Given the description of an element on the screen output the (x, y) to click on. 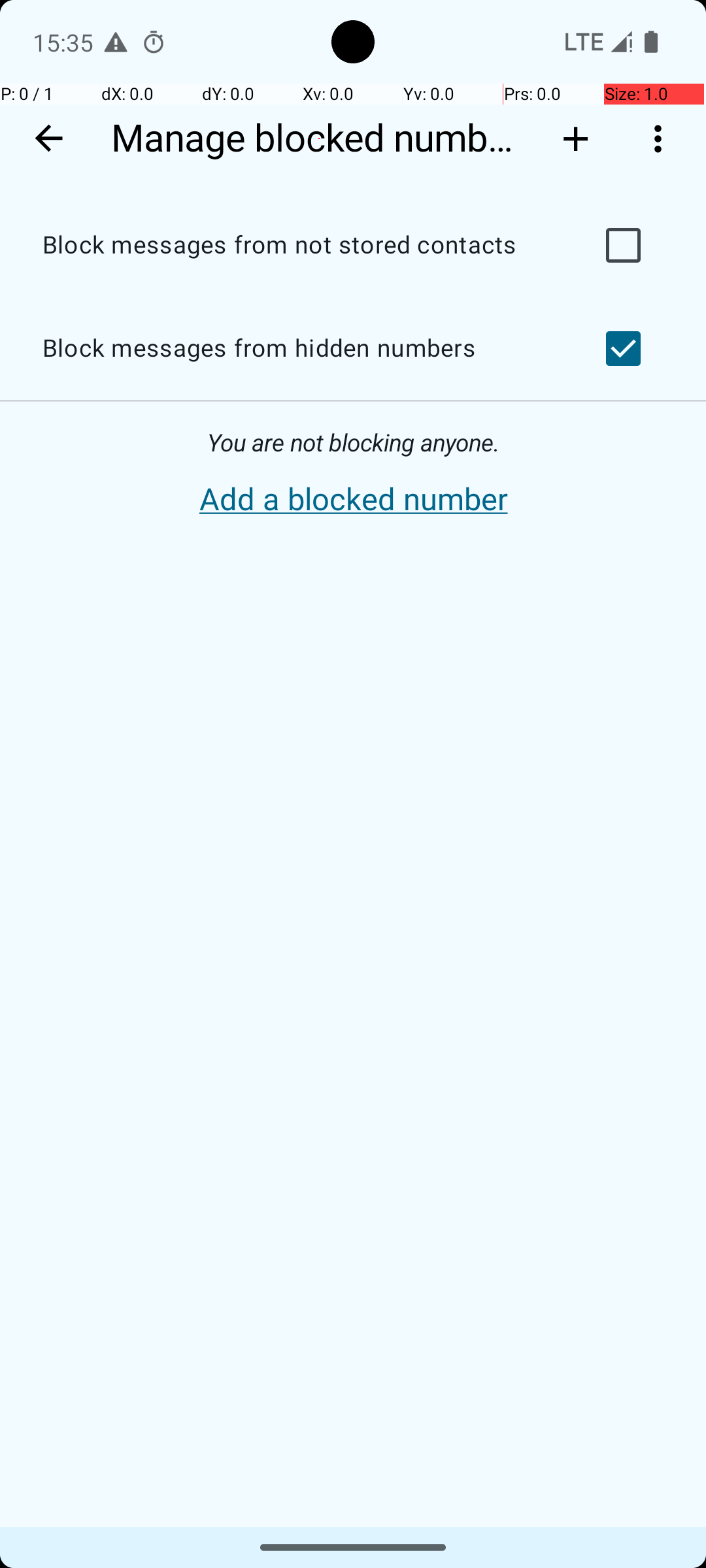
You are not blocking anyone. Element type: android.widget.TextView (352, 443)
Manage blocked numbers Element type: android.widget.TextView (318, 138)
Block messages from not stored contacts Element type: android.widget.TextView (297, 244)
Block messages from hidden numbers Element type: android.widget.TextView (297, 348)
Add a blocked number Element type: android.widget.TextView (352, 499)
